Given the description of an element on the screen output the (x, y) to click on. 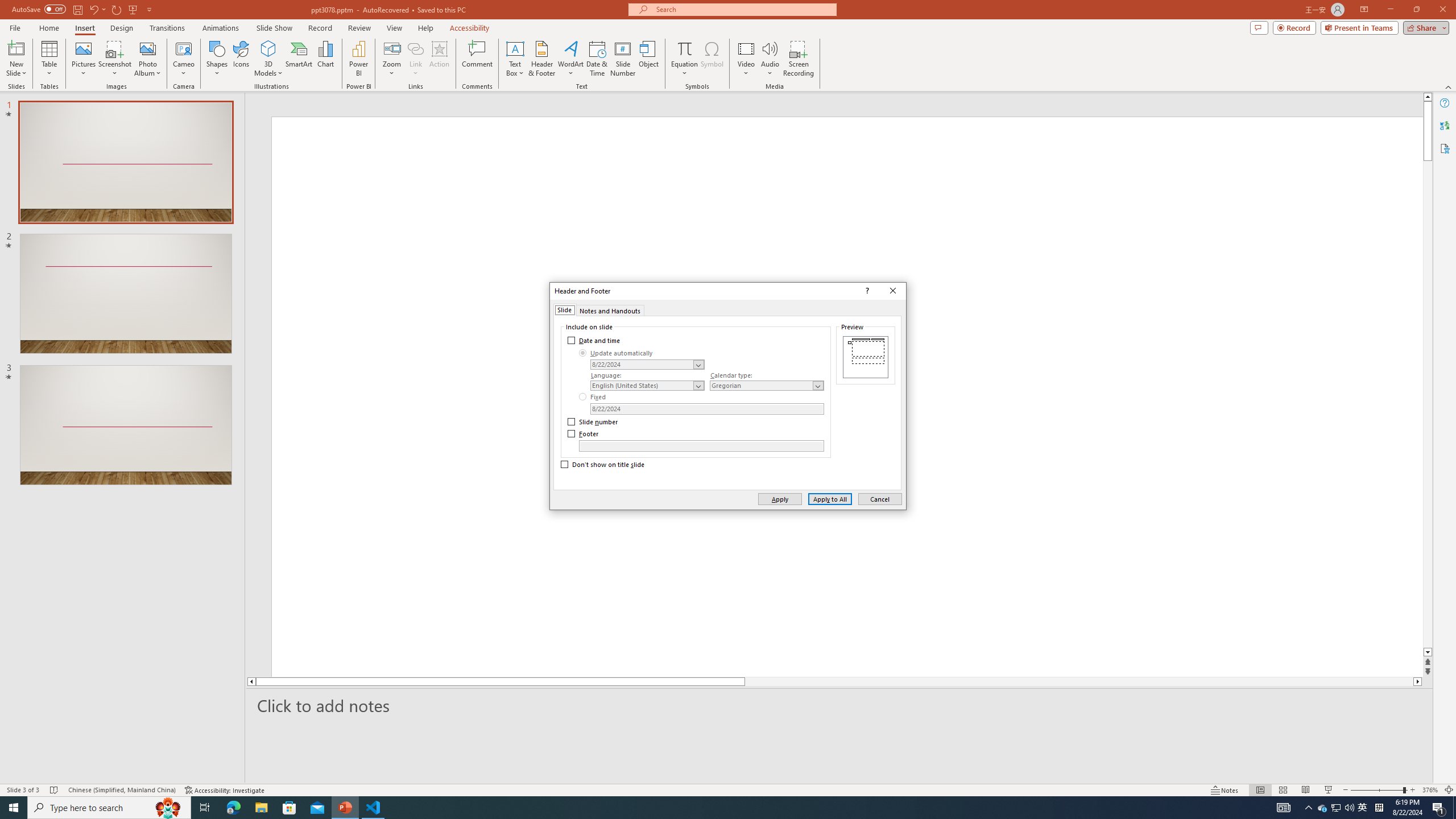
Footer (583, 433)
Screen Recording... (798, 58)
